Given the description of an element on the screen output the (x, y) to click on. 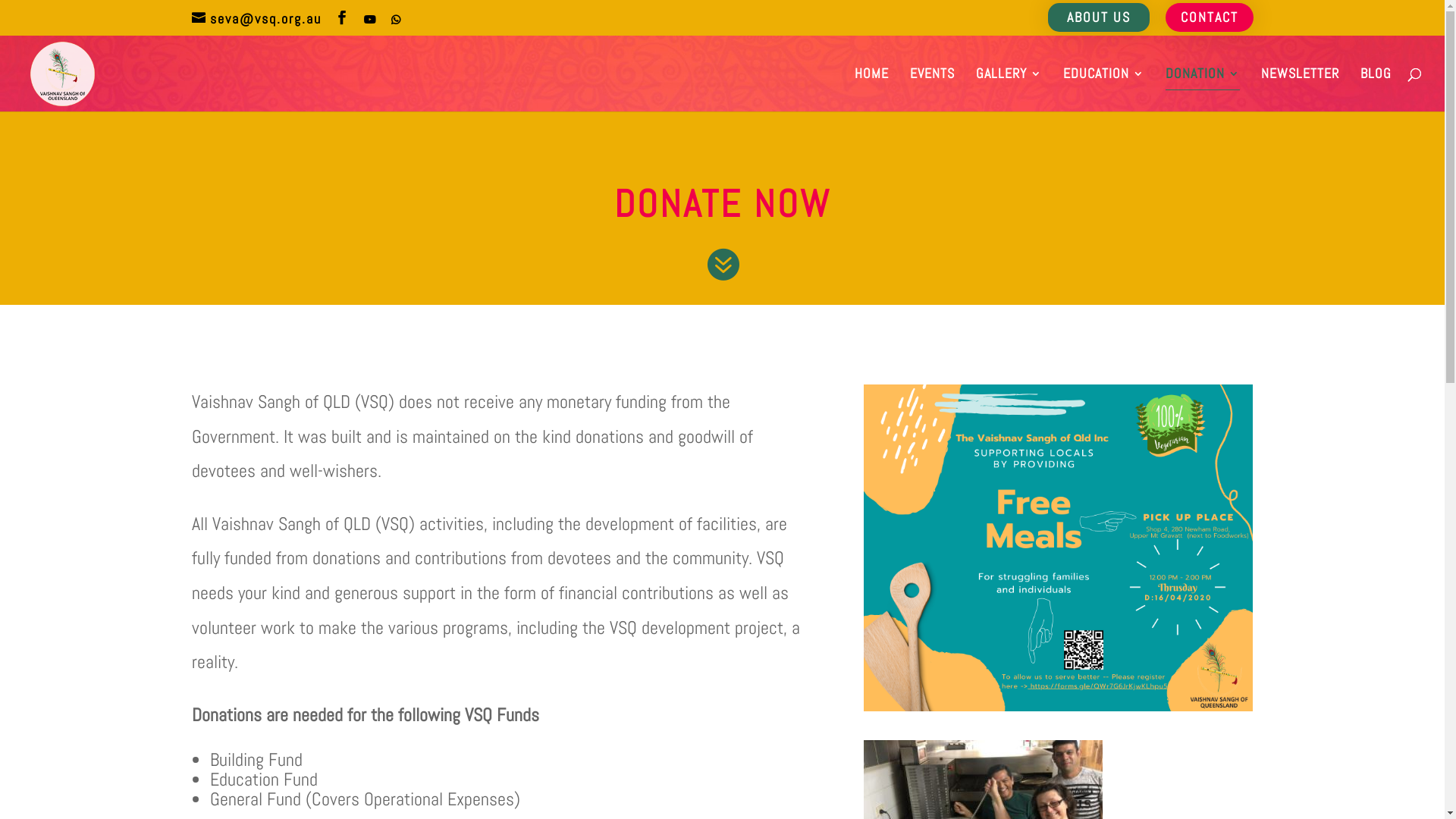
BLOG Element type: text (1375, 89)
ABOUT US Element type: text (1098, 17)
EVENTS Element type: text (932, 89)
seva@vsq.org.au Element type: text (255, 17)
GALLERY Element type: text (1008, 89)
CONTACT Element type: text (1208, 17)
HOME Element type: text (871, 89)
EDUCATION Element type: text (1103, 89)
DONATION Element type: text (1202, 89)
VSQ Event Covid Element type: hover (1058, 547)
NEWSLETTER Element type: text (1300, 89)
